Given the description of an element on the screen output the (x, y) to click on. 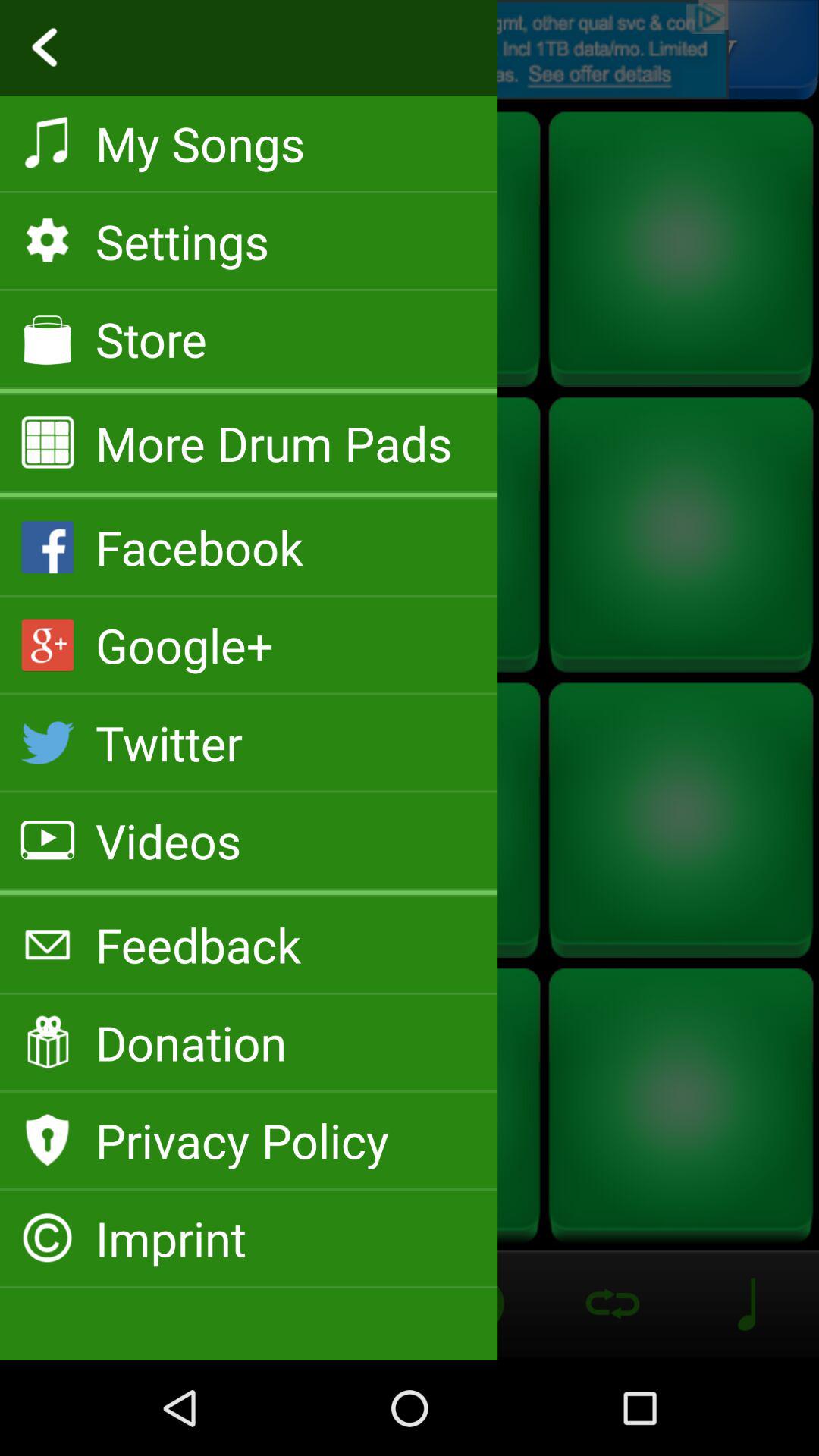
go back (409, 49)
